Given the description of an element on the screen output the (x, y) to click on. 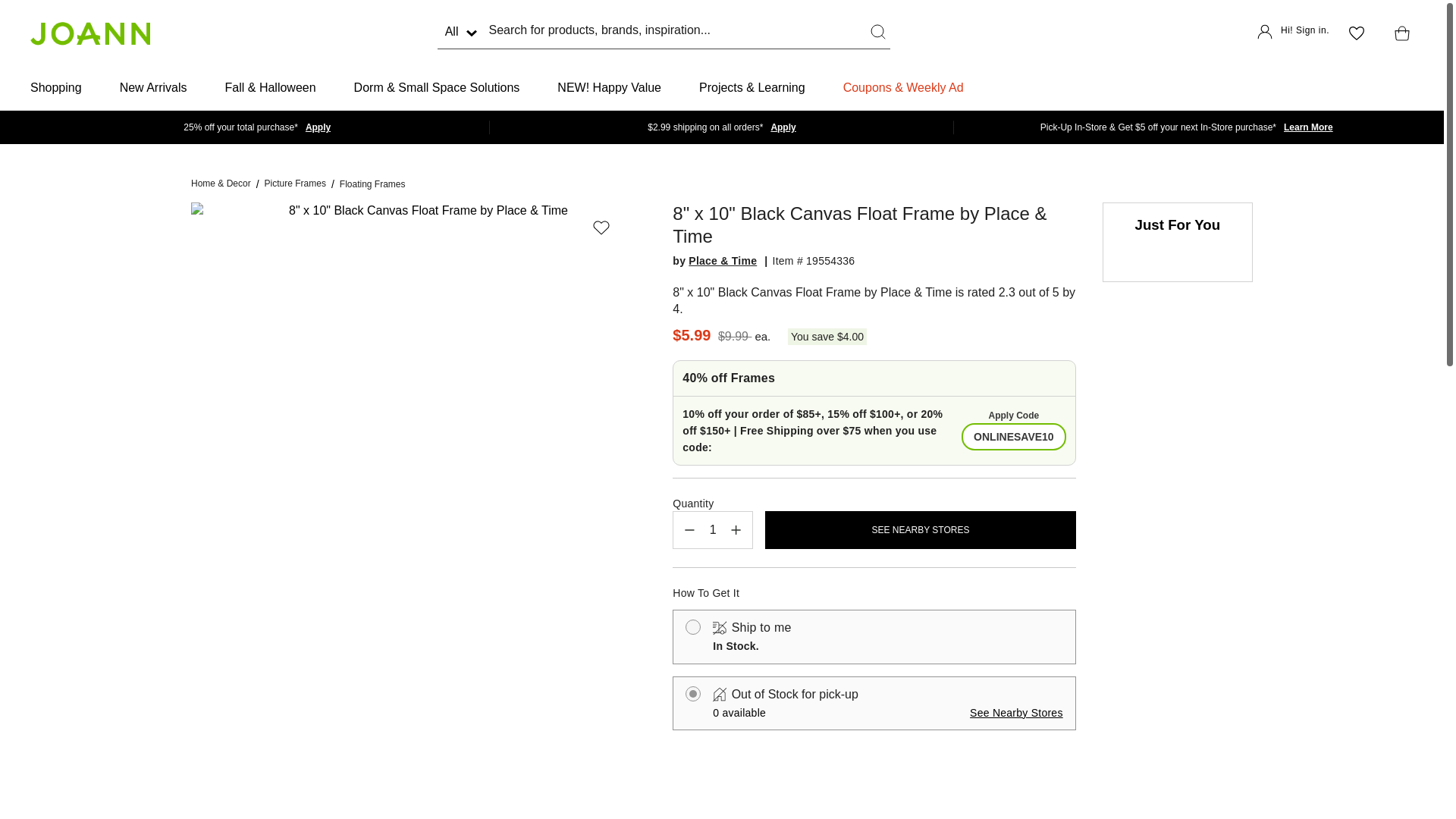
JO-ANN STORES, LLC Home (89, 33)
Picture Frames (295, 183)
Favorites (1356, 33)
NEW! Happy Value (608, 87)
1 (712, 529)
Hi! Sign in. (1293, 33)
Hi! Sign in. (1293, 33)
Floating Frames (372, 184)
Shopping (55, 87)
New Arrivals (153, 87)
View Cart (1398, 33)
